Given the description of an element on the screen output the (x, y) to click on. 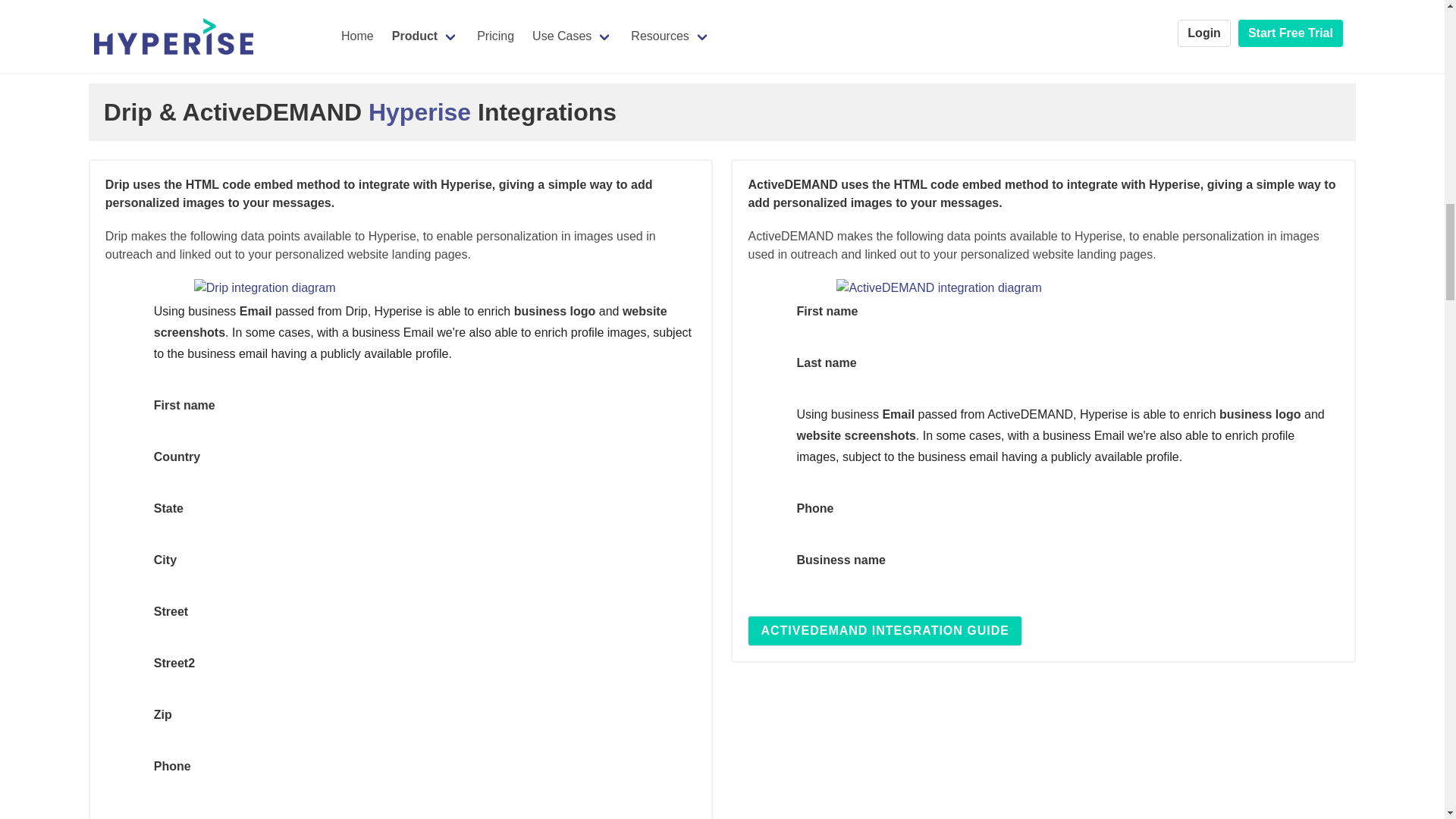
Drip integration diagram (264, 288)
ACTIVEDEMAND INTEGRATION GUIDE (885, 630)
ActiveDEMAND integration diagram (938, 288)
